Given the description of an element on the screen output the (x, y) to click on. 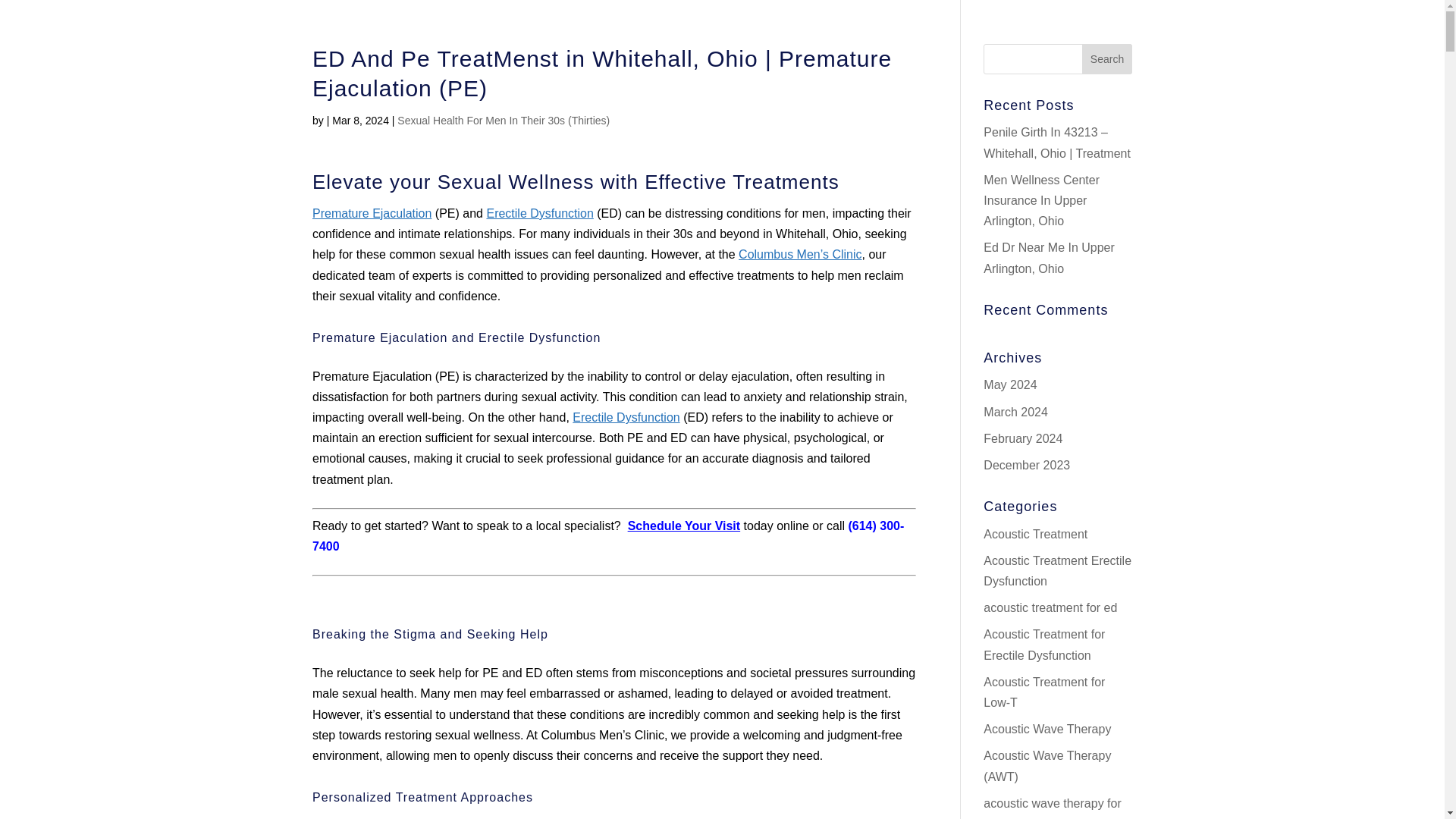
ED Page (539, 213)
Erectile Dysfunction (539, 213)
Home (799, 254)
March 2024 (1016, 411)
December 2023 (1027, 464)
acoustic wave therapy for ed (1052, 807)
Acoustic Treatment Erectile Dysfunction (1057, 571)
Search (1106, 59)
Acoustic Treatment for Erectile Dysfunction (1044, 644)
Erectile Dysfunction (625, 417)
Men Wellness Center Insurance In Upper Arlington, Ohio (1041, 200)
Acoustic Wave Therapy (1047, 728)
Schedule Your Visit (684, 525)
Acoustic Treatment for Low-T (1044, 692)
May 2024 (1010, 384)
